Given the description of an element on the screen output the (x, y) to click on. 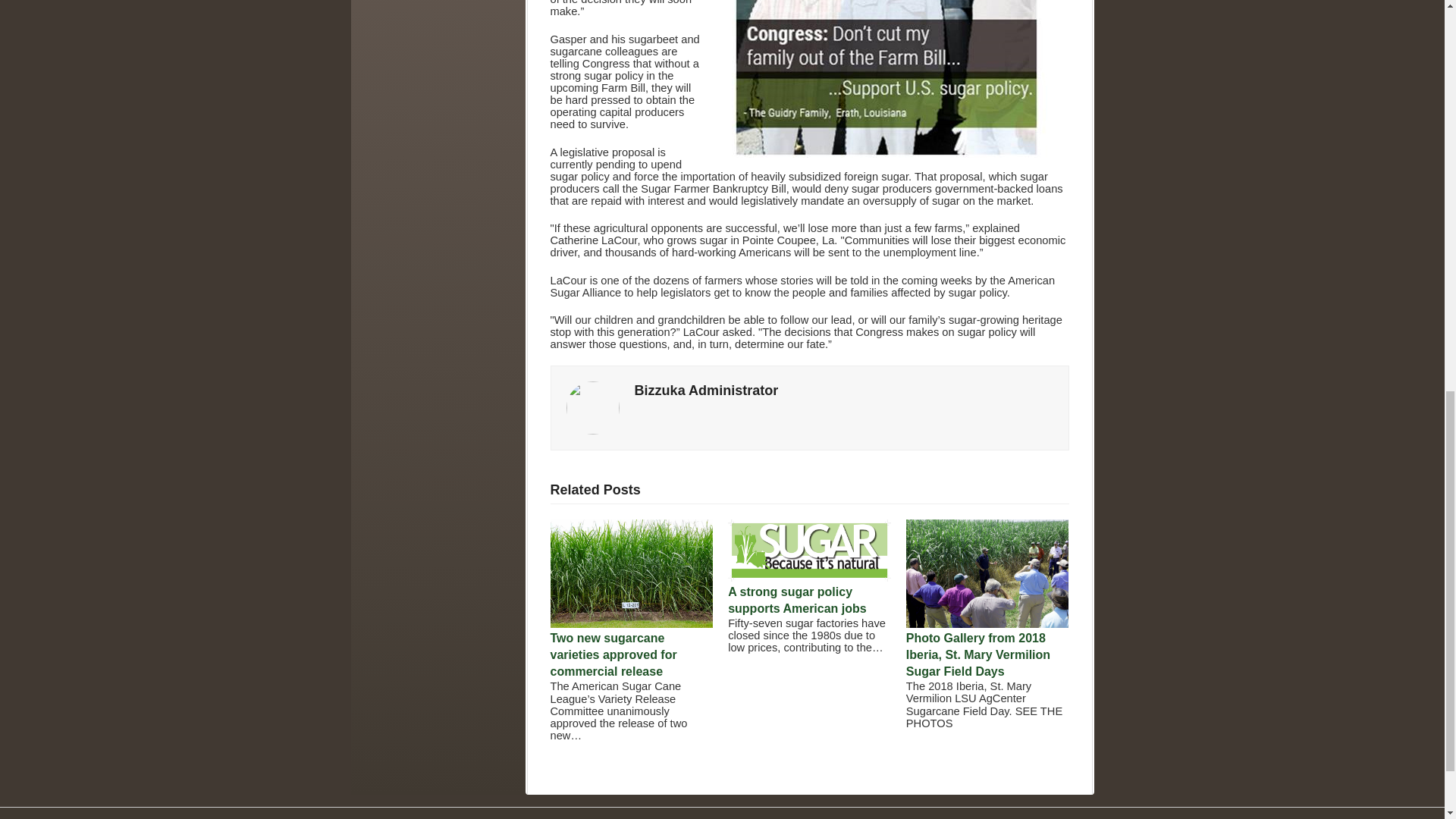
Two new sugarcane varieties approved for commercial release (631, 623)
Visit Author Page (592, 407)
Guidry cut ous (887, 79)
A strong sugar policy supports American jobs (809, 577)
Visit Author Page (705, 390)
